Given the description of an element on the screen output the (x, y) to click on. 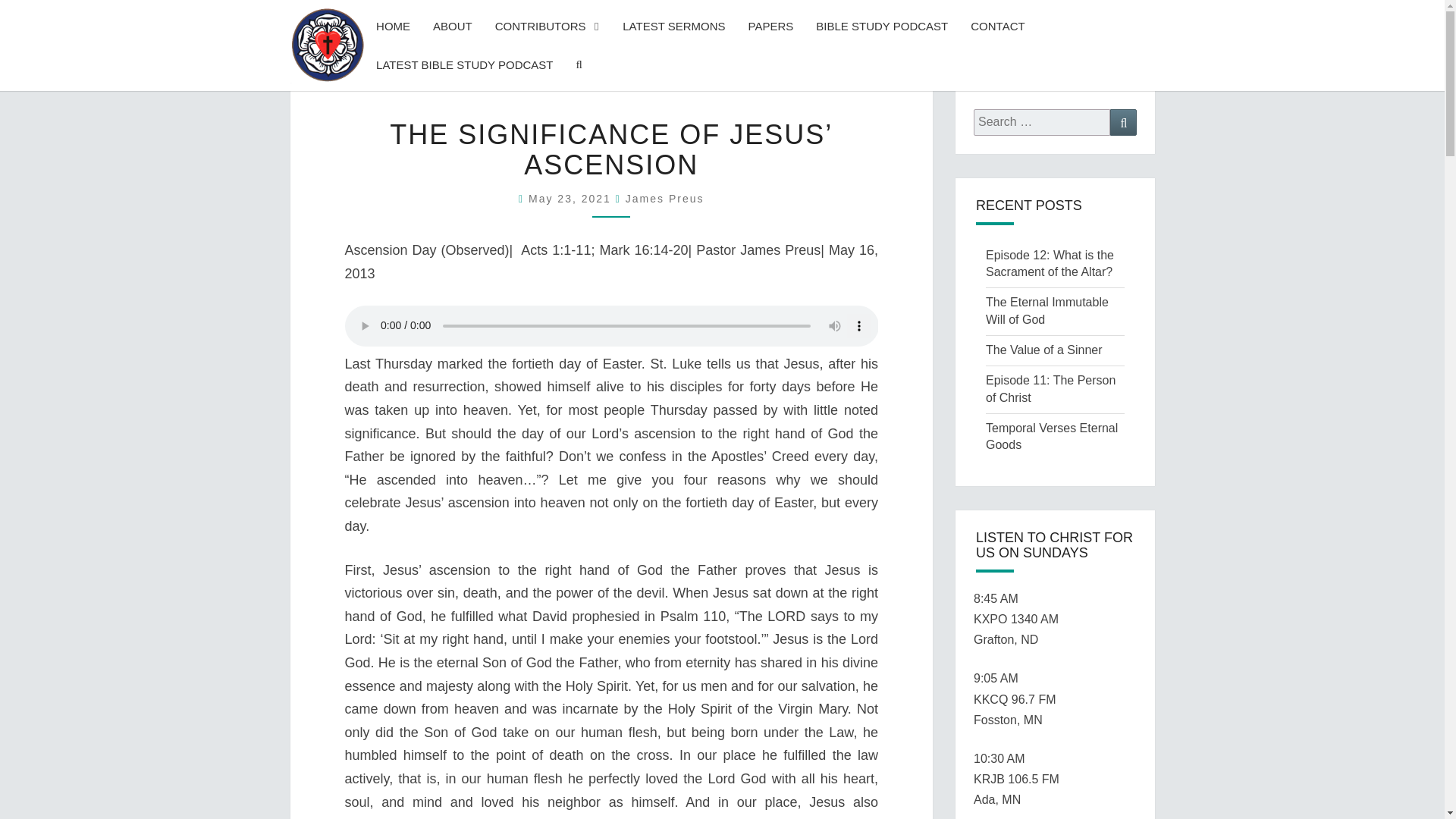
Search (1123, 121)
View all posts by James Preus (665, 198)
Temporal Verses Eternal Goods (1051, 436)
LATEST SERMONS (673, 25)
LATEST BIBLE STUDY PODCAST (464, 64)
8:51 PM (571, 198)
BIBLE STUDY PODCAST (882, 25)
The Value of a Sinner (1043, 349)
ABOUT (452, 25)
May 23, 2021 (571, 198)
Episode 11: The Person of Christ (1050, 388)
James Preus (665, 198)
HOME (393, 25)
CONTRIBUTORS (547, 25)
Search for: (1041, 121)
